Given the description of an element on the screen output the (x, y) to click on. 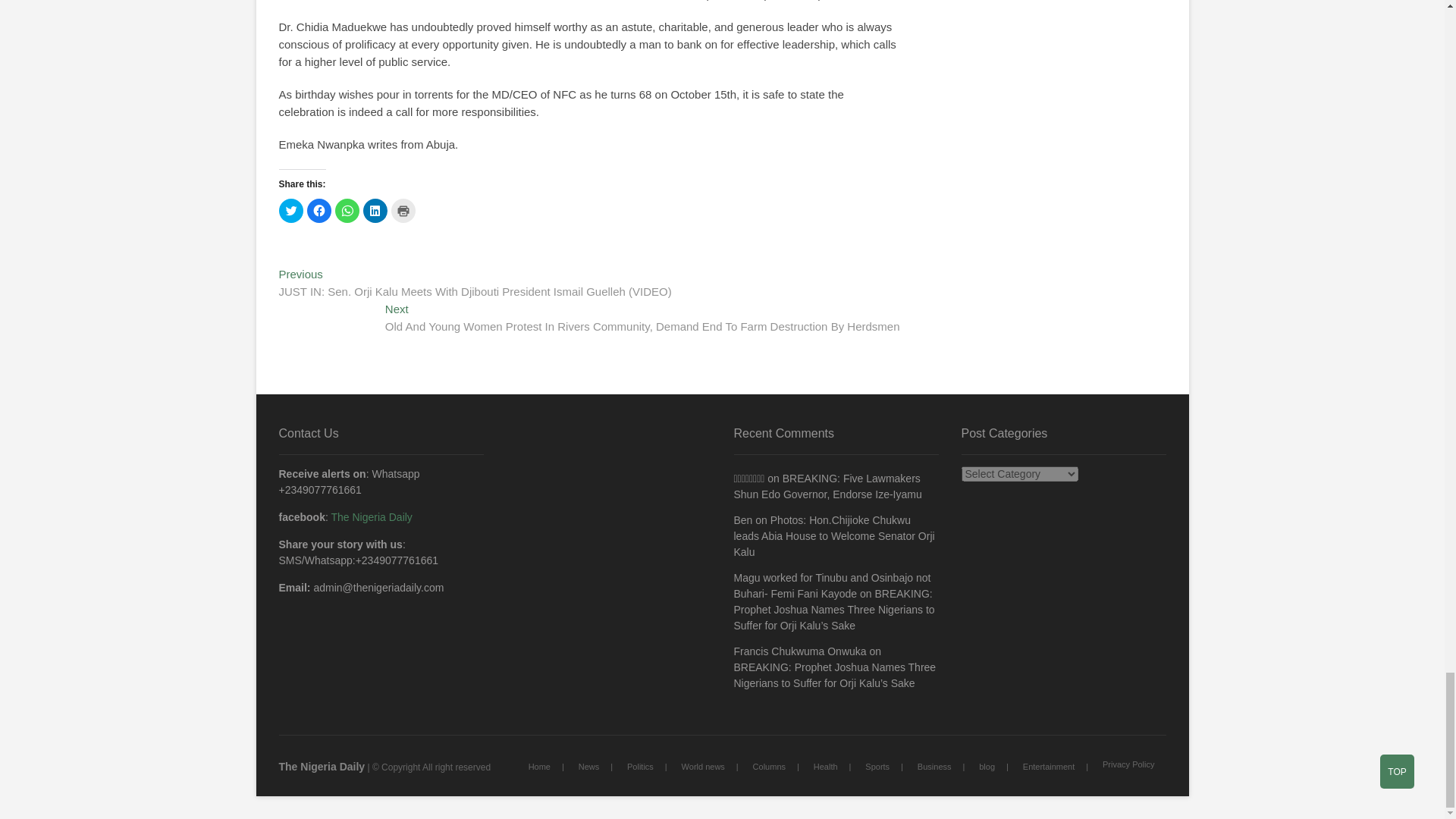
The Nigeria Daily (322, 766)
Click to print (402, 210)
Click to share on Facebook (317, 210)
Click to share on LinkedIn (374, 210)
Click to share on WhatsApp (346, 210)
Click to share on Twitter (290, 210)
